Given the description of an element on the screen output the (x, y) to click on. 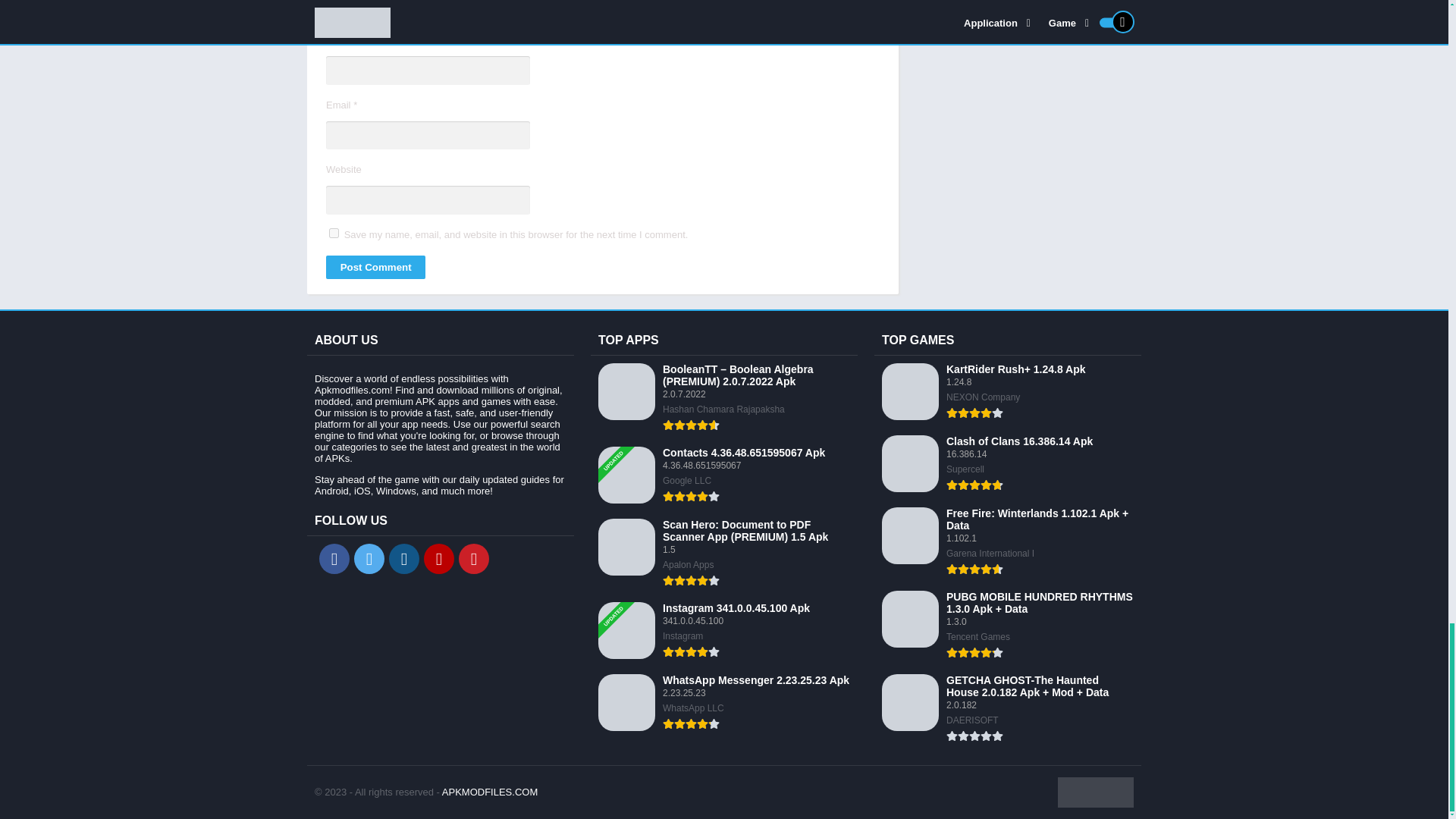
Post Comment (375, 267)
yes (334, 233)
